Given the description of an element on the screen output the (x, y) to click on. 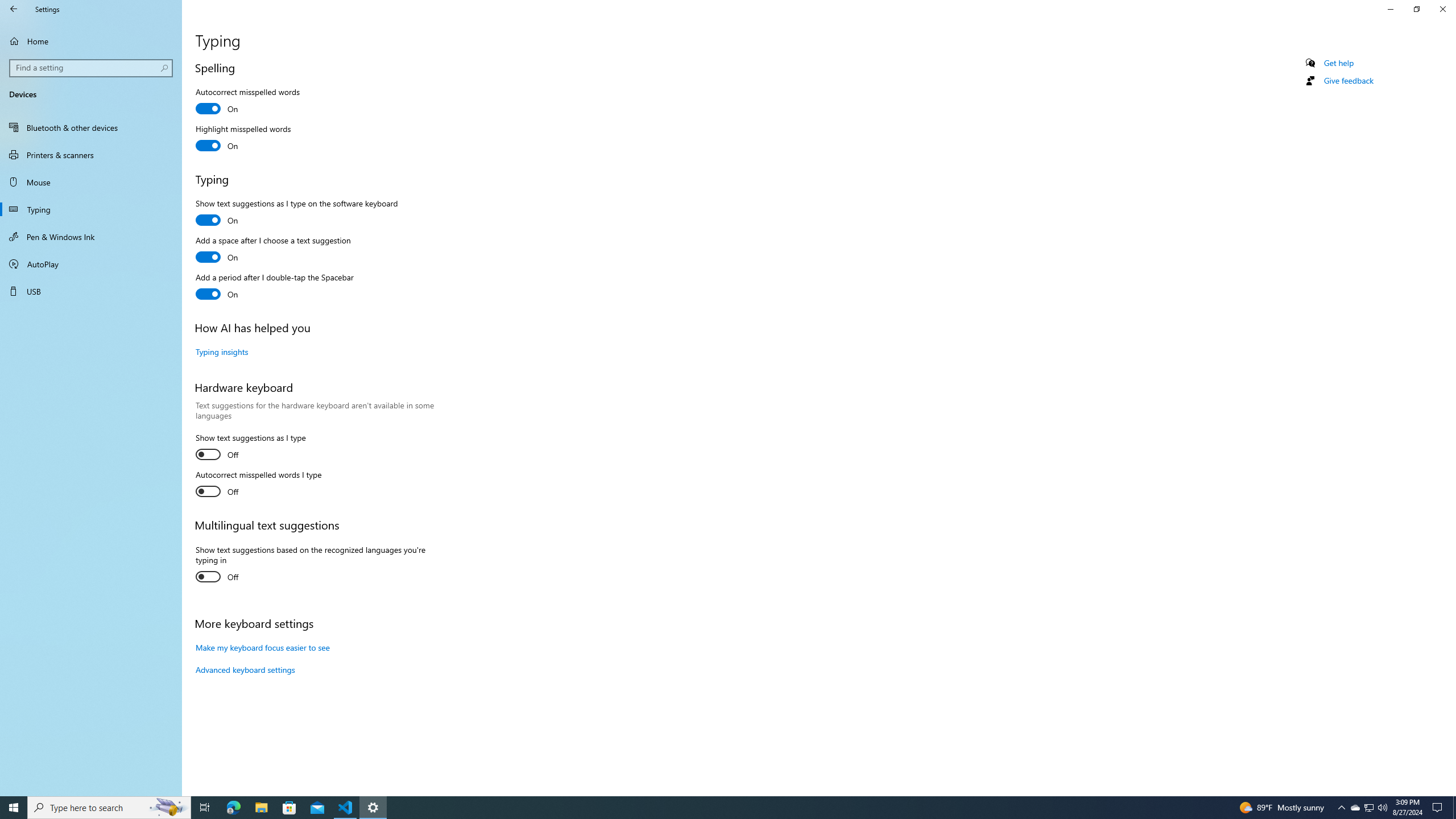
Make my keyboard focus easier to see (262, 647)
